Given the description of an element on the screen output the (x, y) to click on. 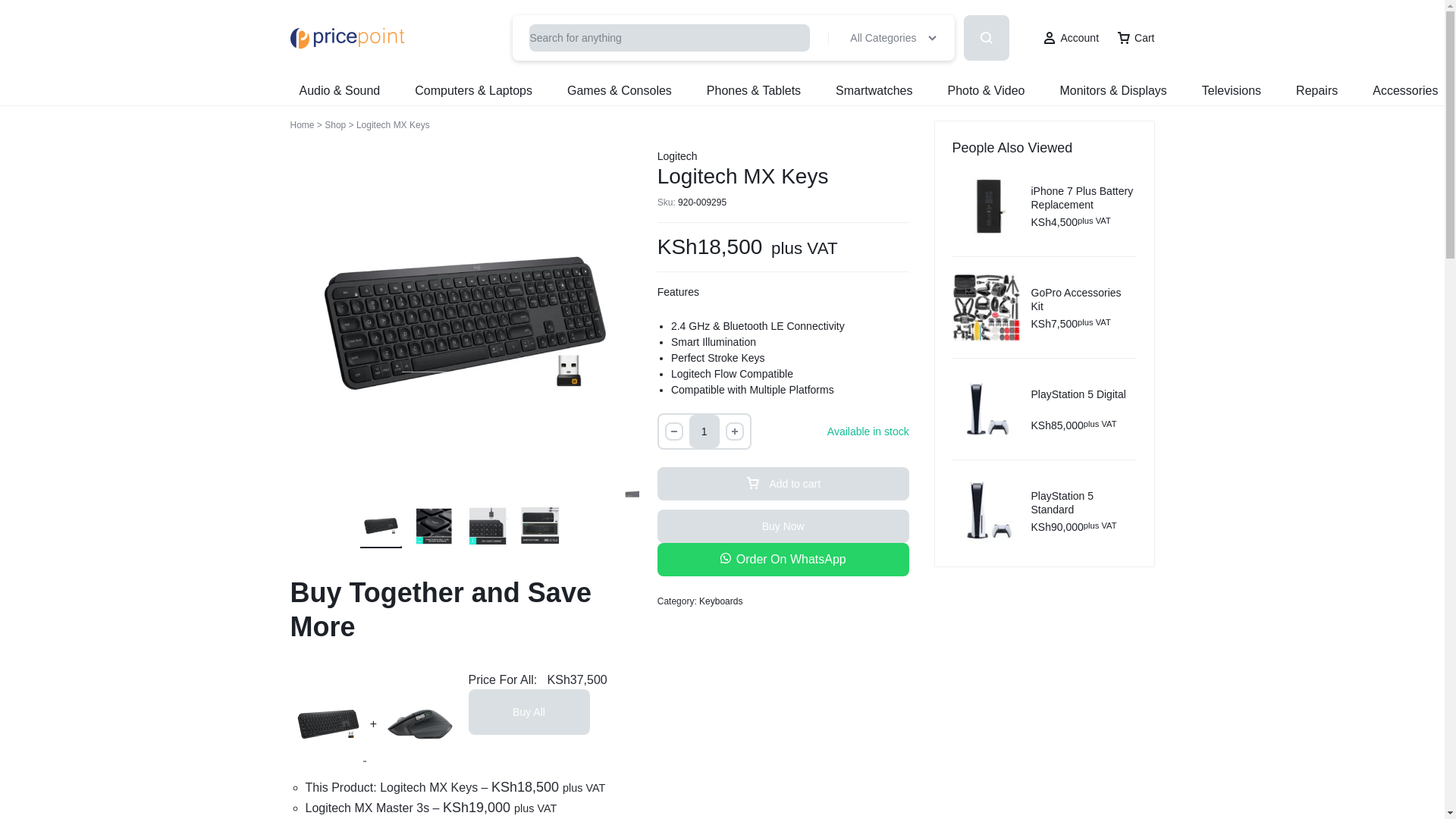
Logitech MX Keys (464, 322)
1 (703, 430)
